Given the description of an element on the screen output the (x, y) to click on. 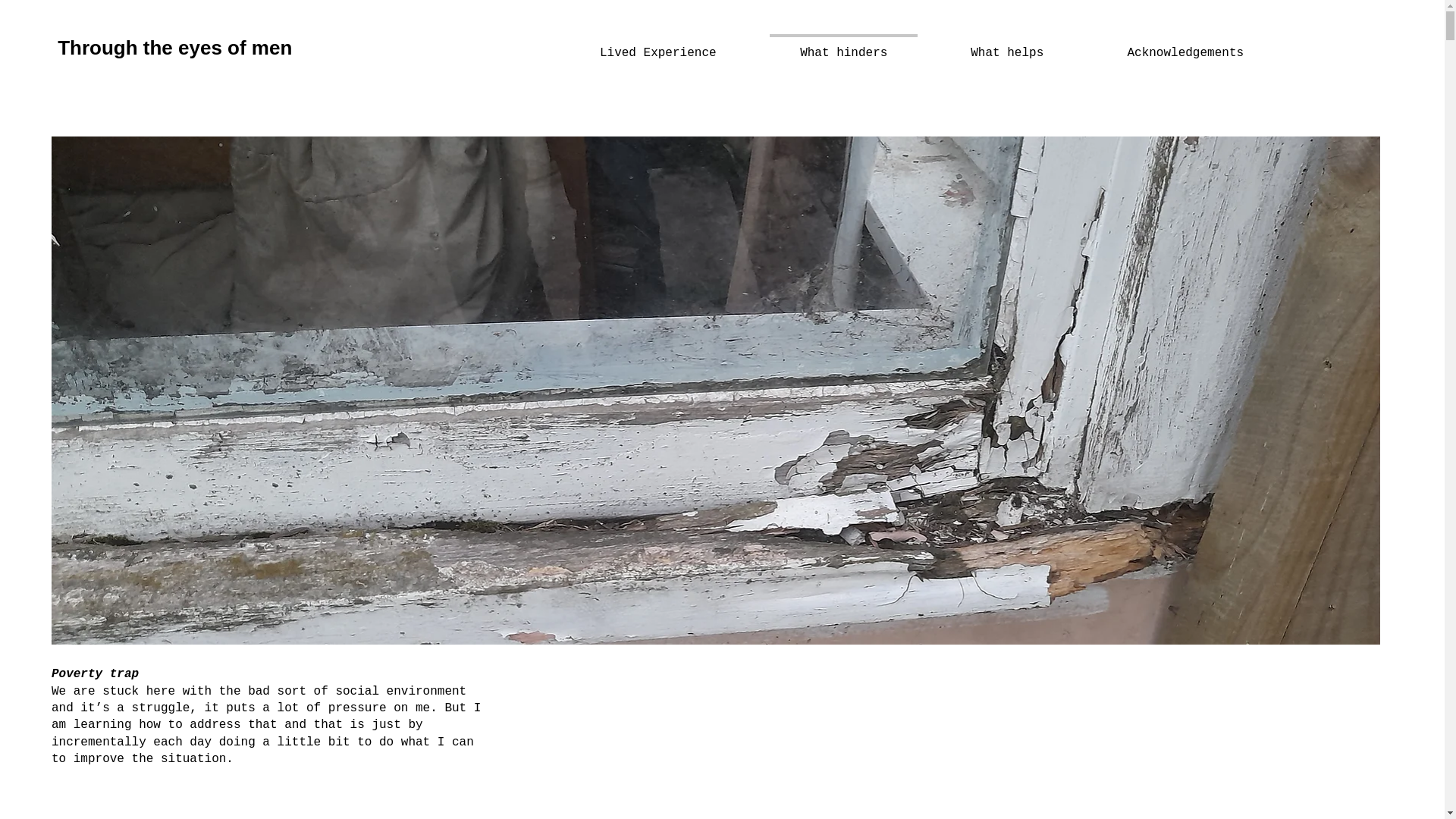
Through the eyes of men (175, 47)
What hinders (843, 46)
What helps (1006, 46)
Acknowledgements (1184, 46)
Lived Experience (657, 46)
